Given the description of an element on the screen output the (x, y) to click on. 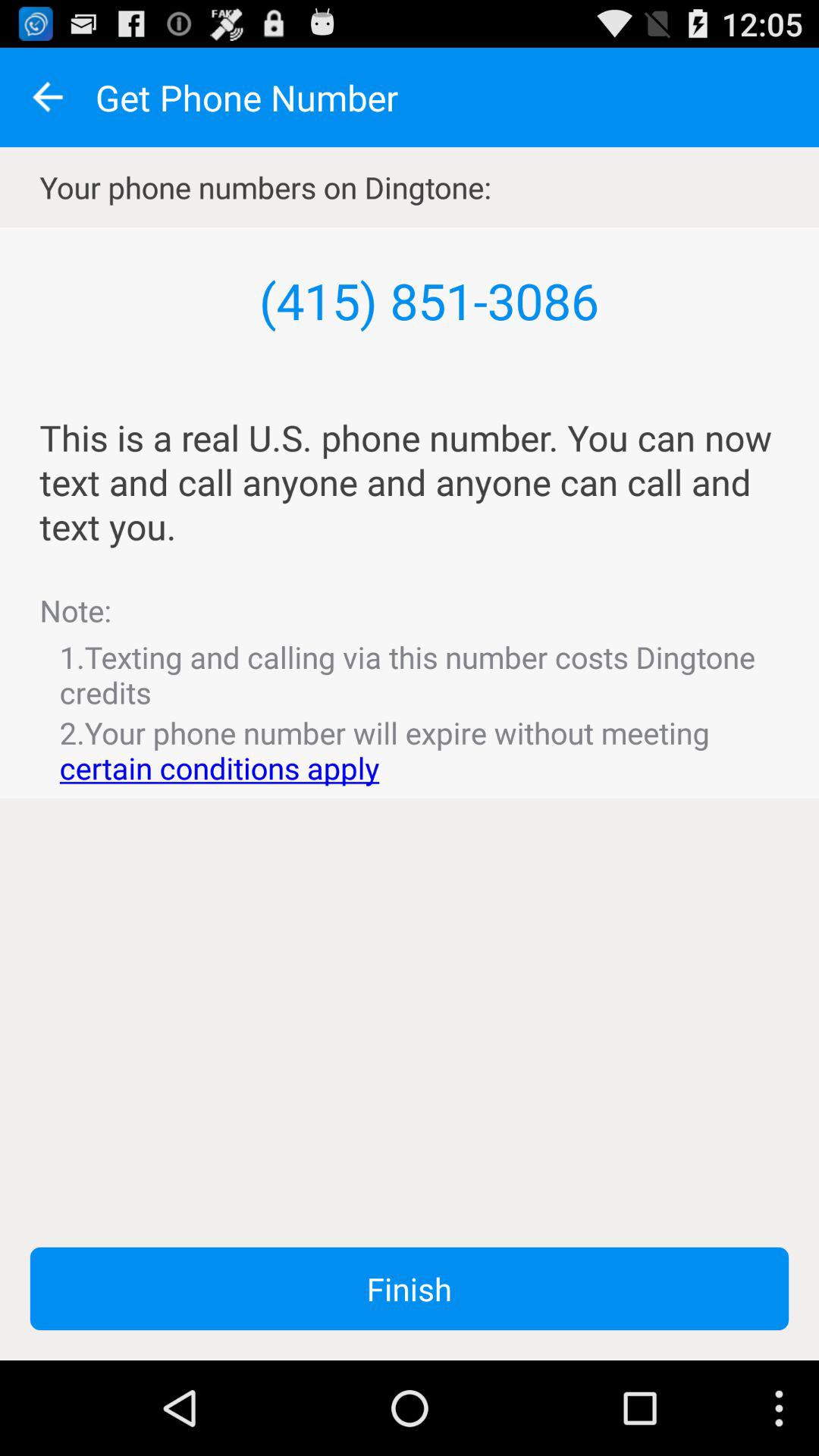
turn on the icon below the 2 your phone icon (409, 1288)
